Given the description of an element on the screen output the (x, y) to click on. 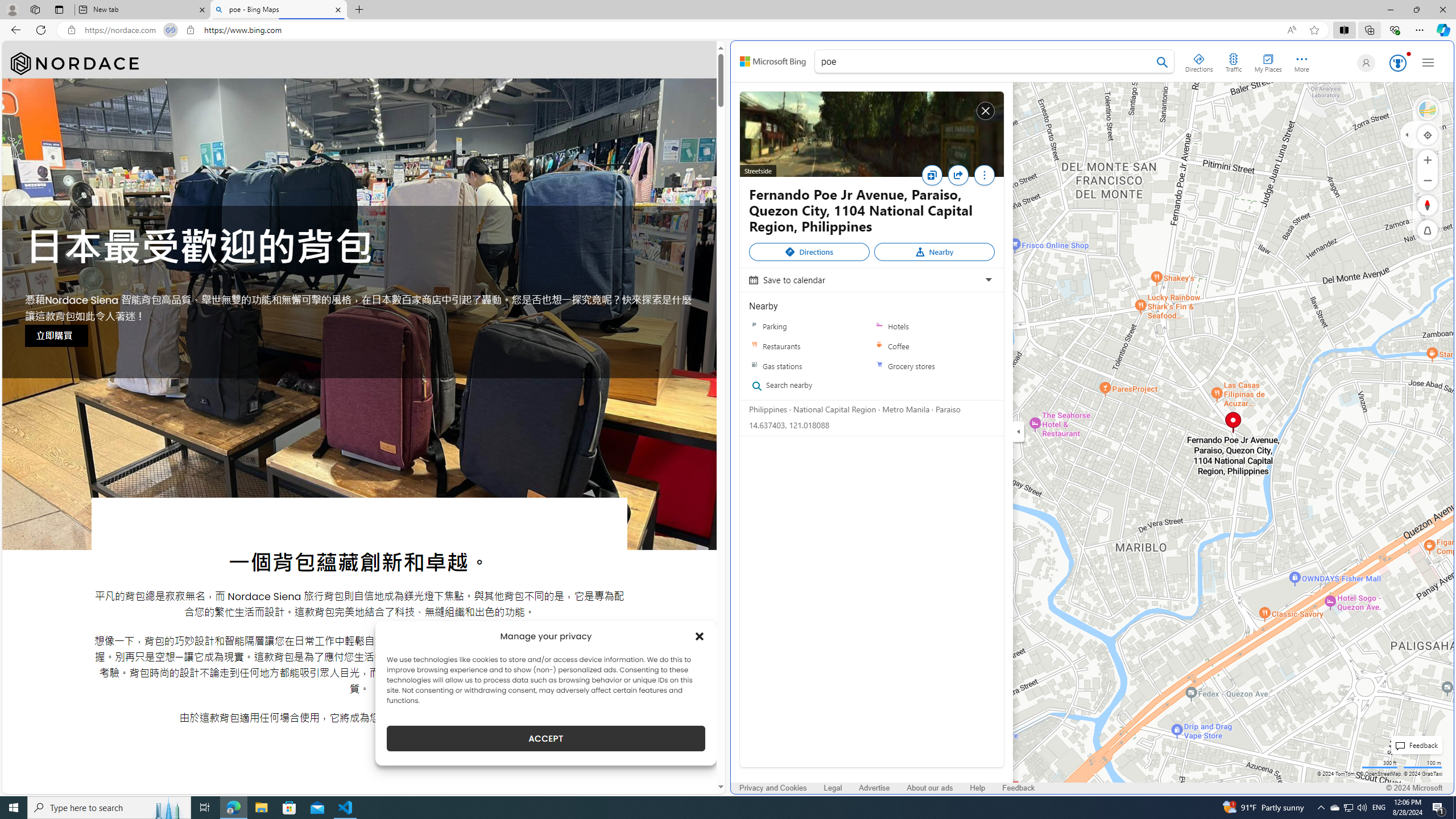
Advertise (874, 787)
Microsoft Rewards 123 (1396, 63)
Streetside (871, 133)
Coffee (933, 345)
Class: sbElement (772, 60)
Zoom Out (1427, 180)
About our ads (930, 787)
Privacy and Cookies (772, 787)
Select Style (1427, 109)
Share (957, 174)
